Given the description of an element on the screen output the (x, y) to click on. 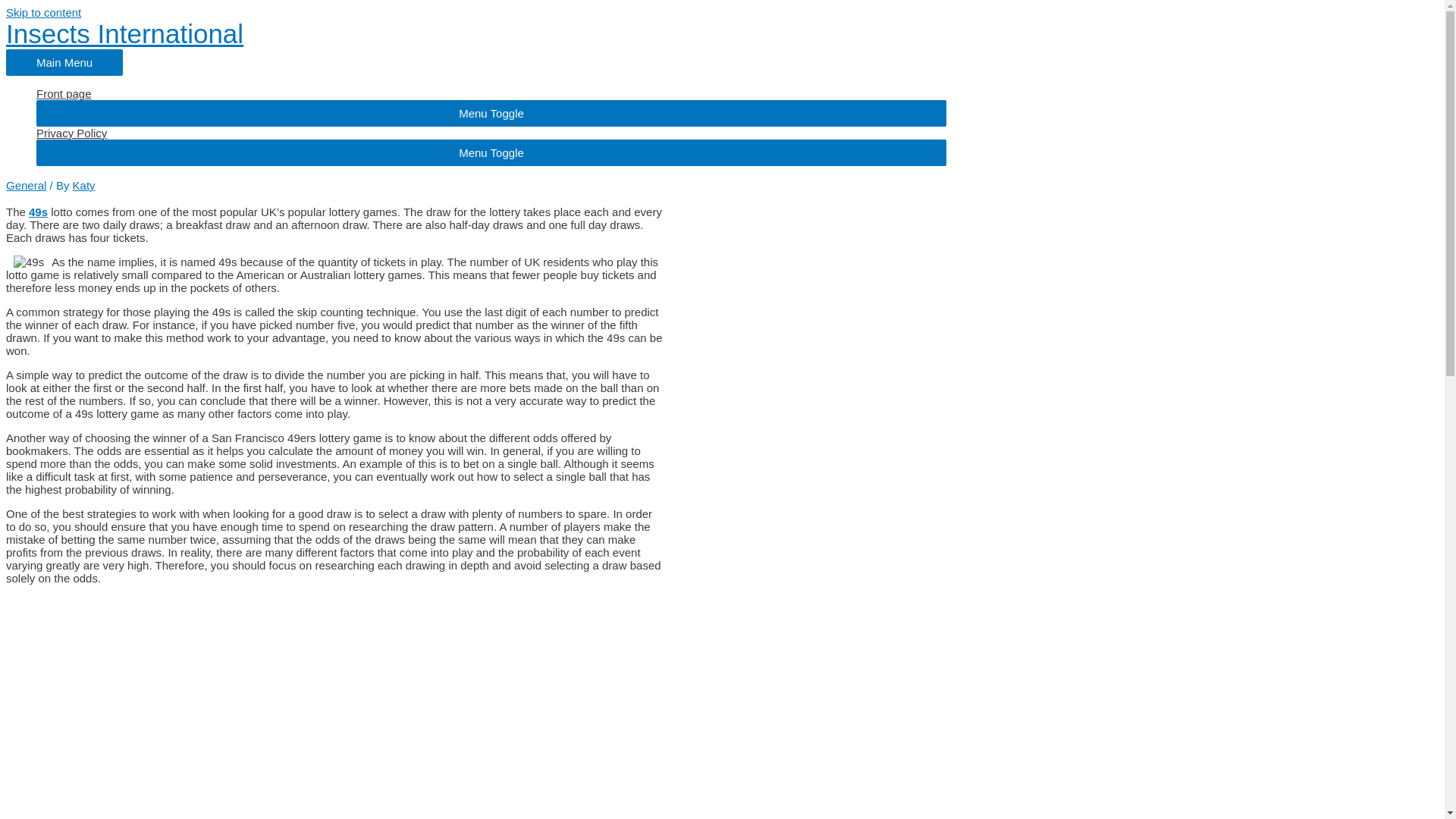
Skip to content (43, 11)
Menu Toggle (491, 152)
Front page (491, 92)
General (25, 185)
Katy (84, 185)
Menu Toggle (491, 112)
Privacy Policy (491, 132)
Insects International (124, 33)
View all posts by Katy (84, 185)
Main Menu (63, 62)
